Given the description of an element on the screen output the (x, y) to click on. 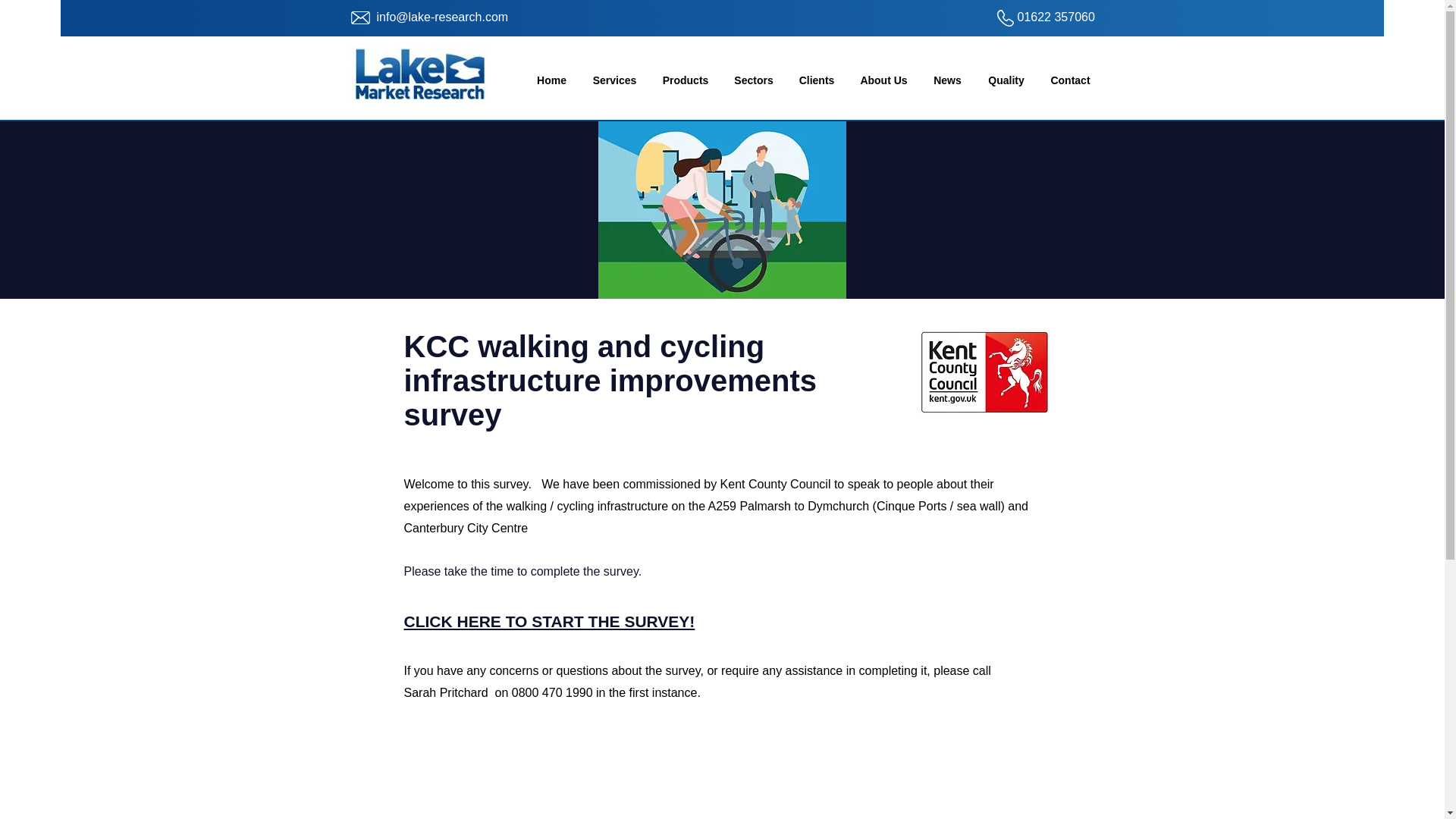
Contact (1069, 80)
CLICK HERE TO START THE SURVEY! (548, 620)
Active Travel.jpg (720, 209)
Sectors (754, 80)
News (947, 80)
Quality (1006, 80)
01622 357060 (1055, 16)
Home (550, 80)
Embedded Content (490, 800)
